Given the description of an element on the screen output the (x, y) to click on. 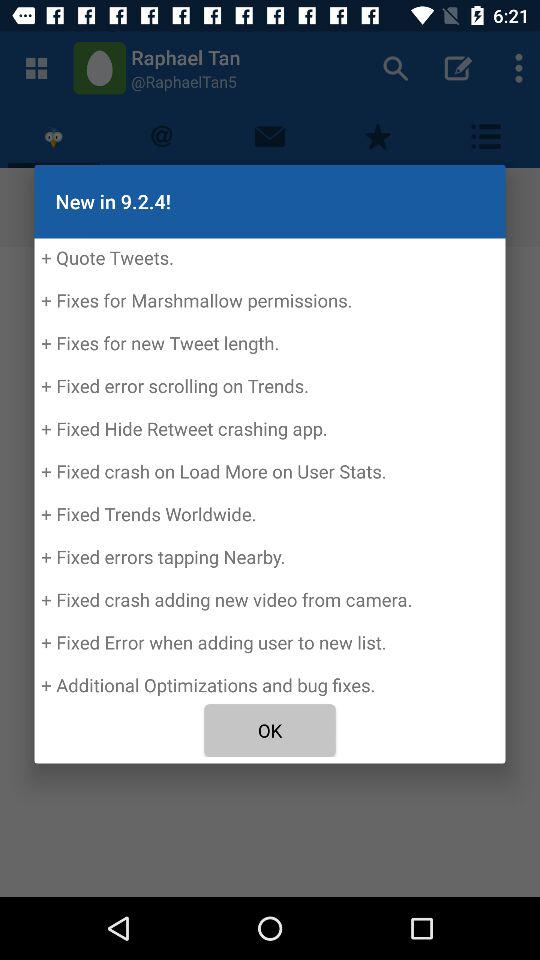
swipe to the ok icon (269, 730)
